Given the description of an element on the screen output the (x, y) to click on. 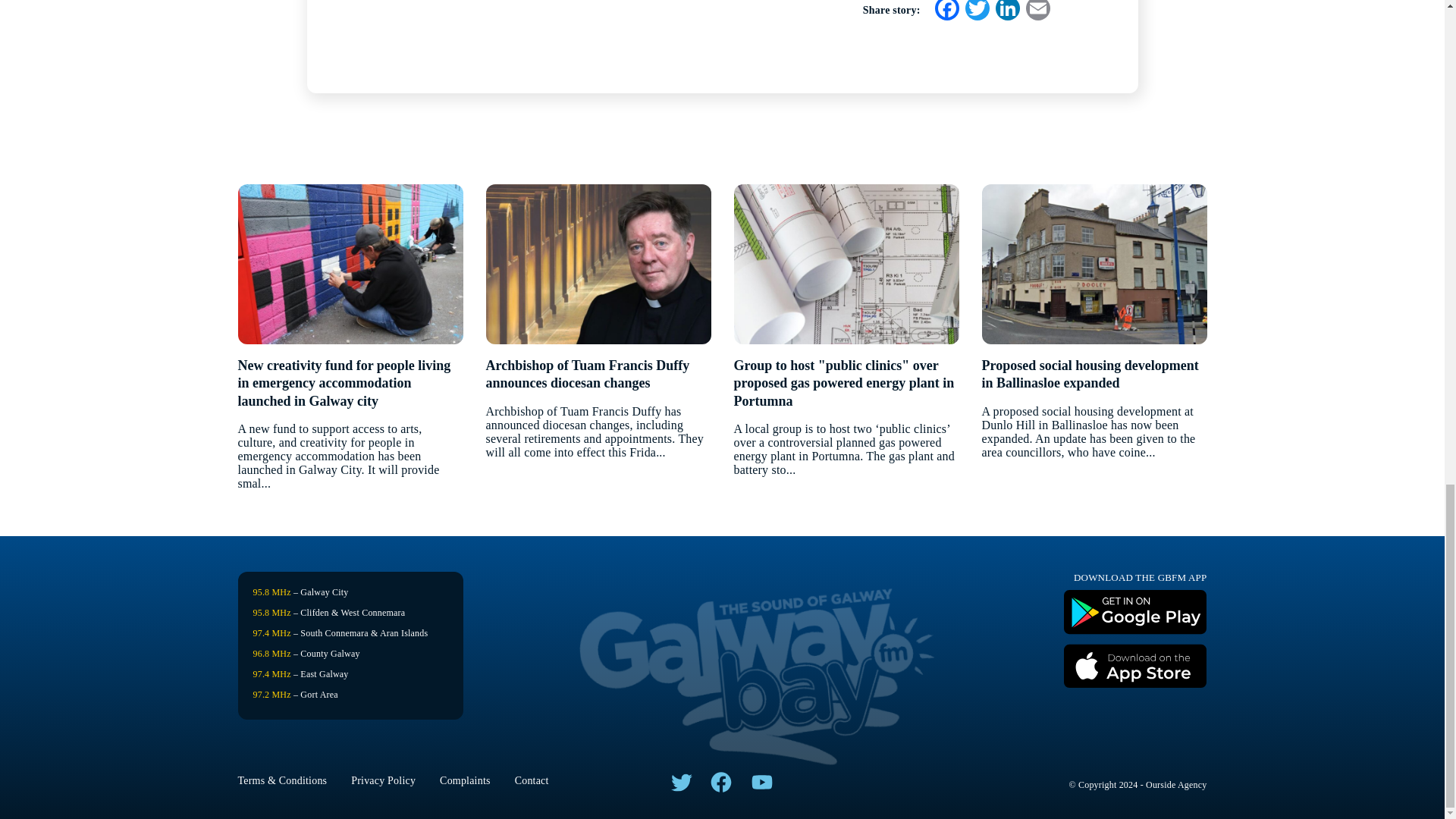
Facebook (945, 12)
Twitter (975, 12)
Facebook (945, 12)
Twitter (975, 12)
Email (1037, 12)
Email (1037, 12)
LinkedIn (1006, 12)
LinkedIn (1006, 12)
Archbishop of Tuam Francis Duffy announces diocesan changes (597, 375)
